Given the description of an element on the screen output the (x, y) to click on. 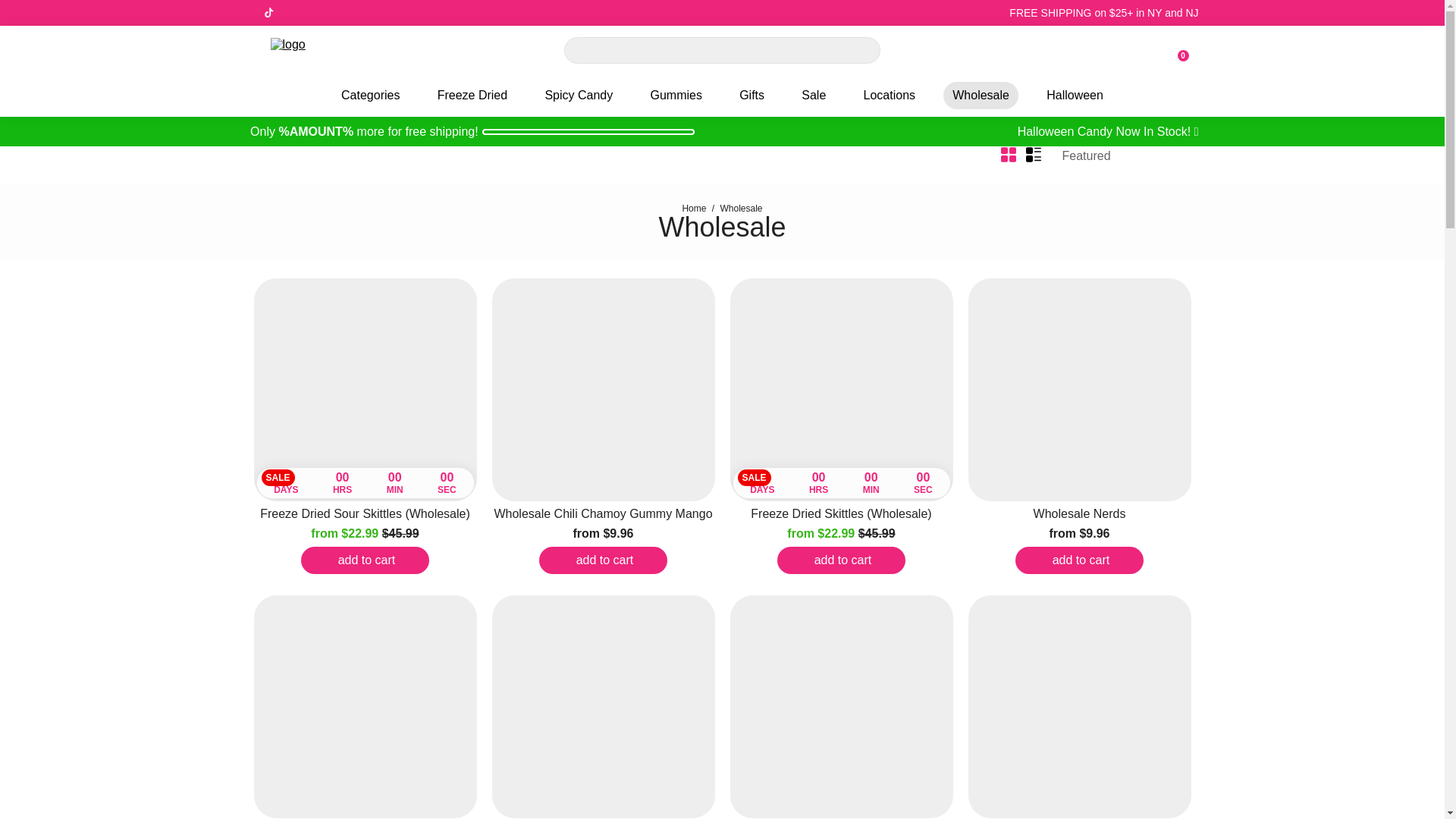
Gummies (675, 95)
Freeze Dried (472, 95)
Categories (370, 95)
Gifts (750, 95)
Spicy Candy (578, 95)
Home (693, 208)
